Given the description of an element on the screen output the (x, y) to click on. 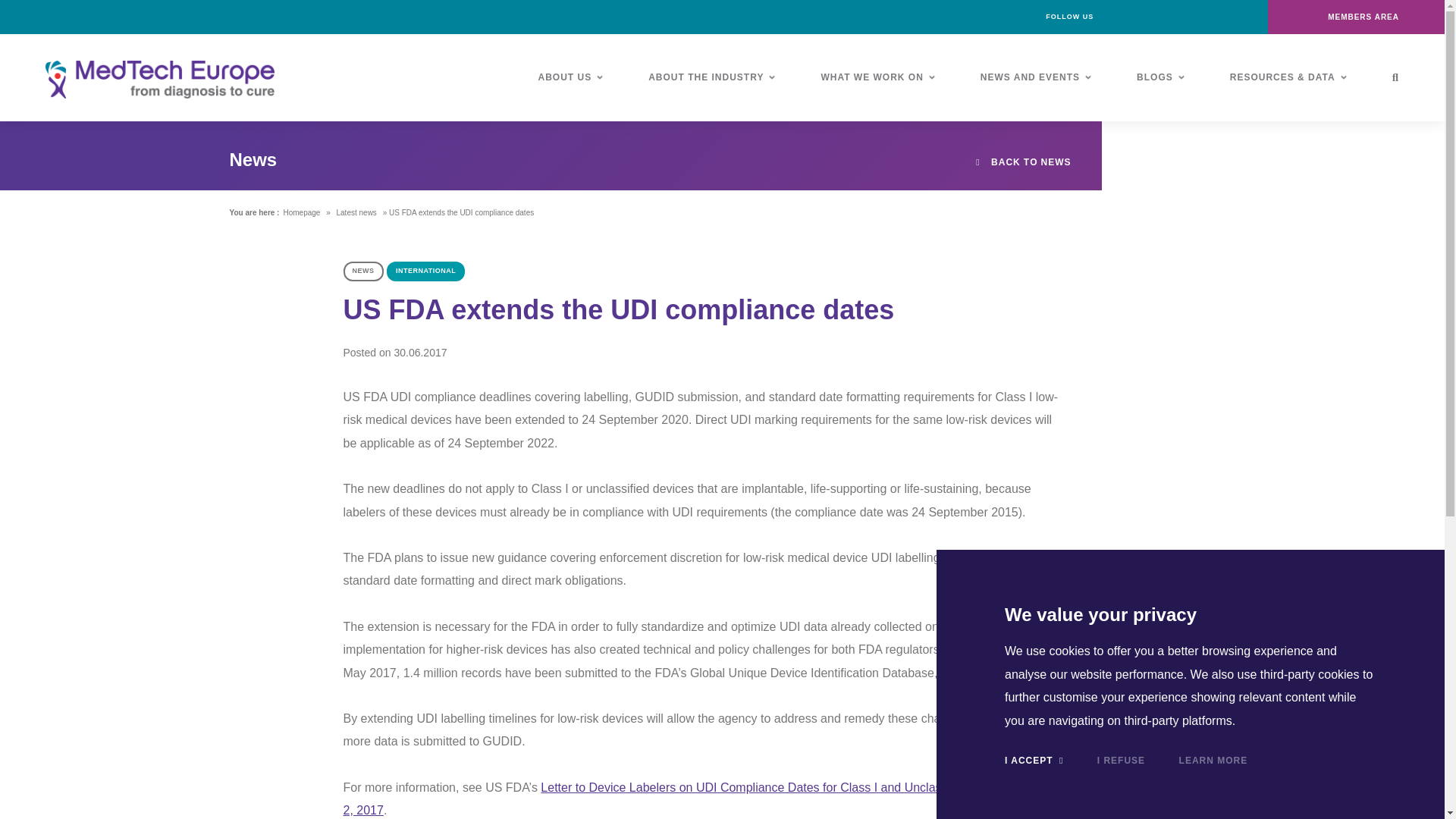
Share on Facebook (1202, 814)
WHAT WE WORK ON (877, 77)
MEMBERS AREA (1356, 17)
Facebook (1117, 17)
Youtube (1220, 17)
Twitter (1186, 17)
I ACCEPT (1033, 760)
Share on Linkedin (1202, 767)
I REFUSE (1120, 760)
ABOUT THE INDUSTRY (710, 77)
Share on Twitter (1202, 795)
Linkedin (1152, 17)
LEARN MORE (1213, 760)
